Given the description of an element on the screen output the (x, y) to click on. 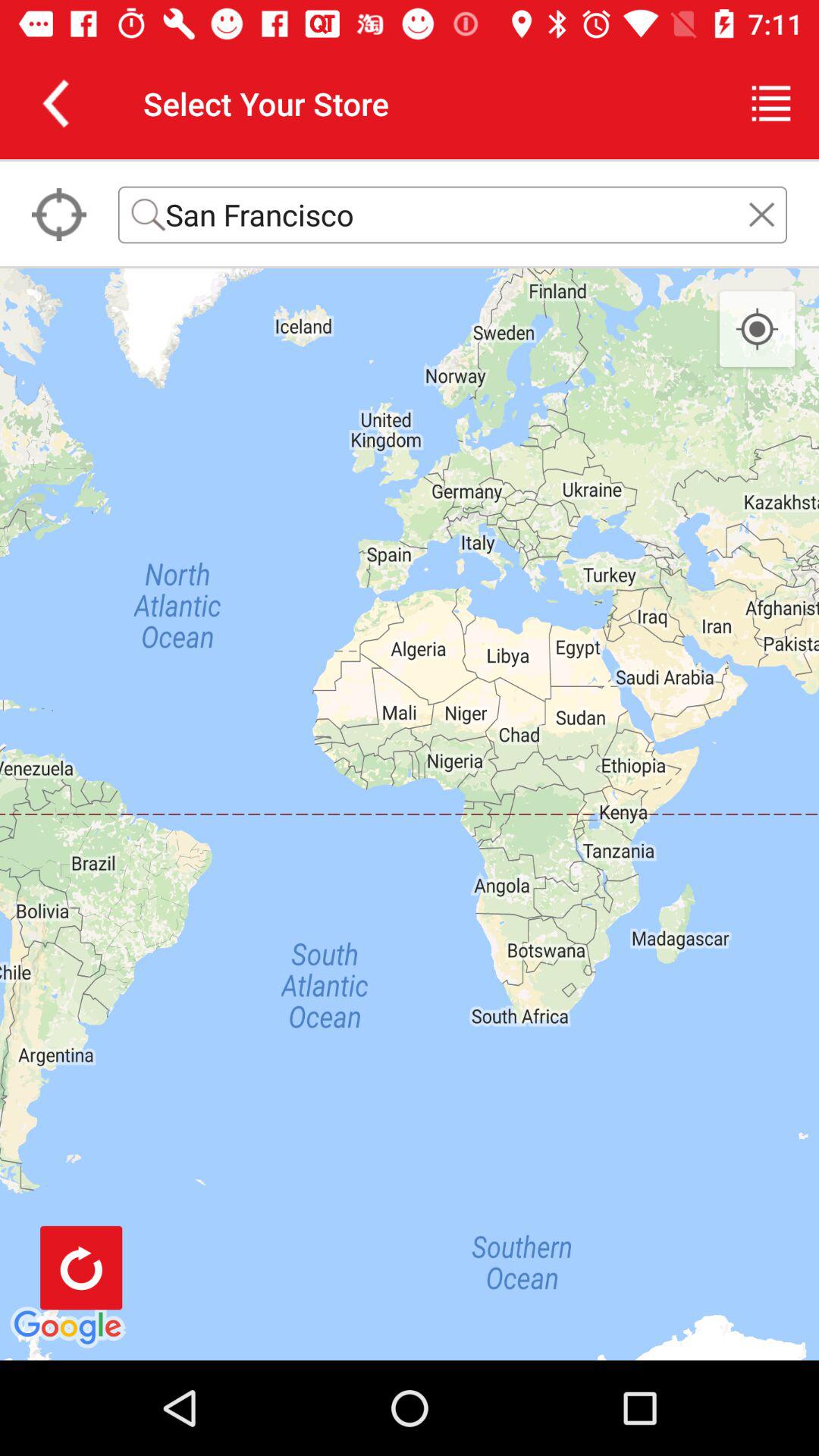
select the icon next to san francisco item (58, 214)
